Given the description of an element on the screen output the (x, y) to click on. 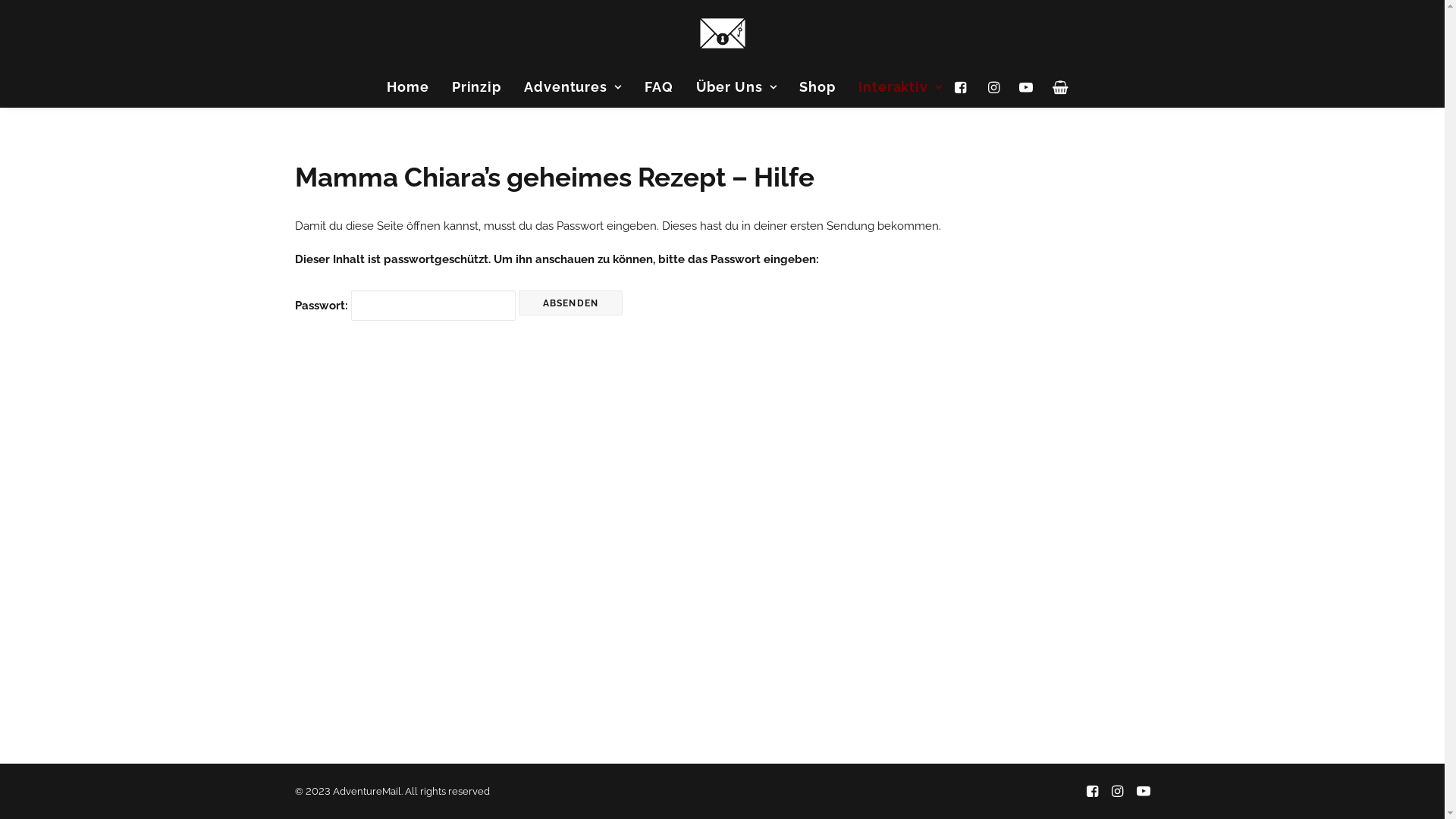
FAQ Element type: text (658, 86)
Home Element type: text (407, 86)
Interaktiv Element type: text (895, 86)
Absenden Element type: text (570, 301)
Adventures Element type: text (572, 86)
Shop Element type: text (817, 86)
Prinzip Element type: text (476, 86)
cart Element type: hover (1054, 86)
